Given the description of an element on the screen output the (x, y) to click on. 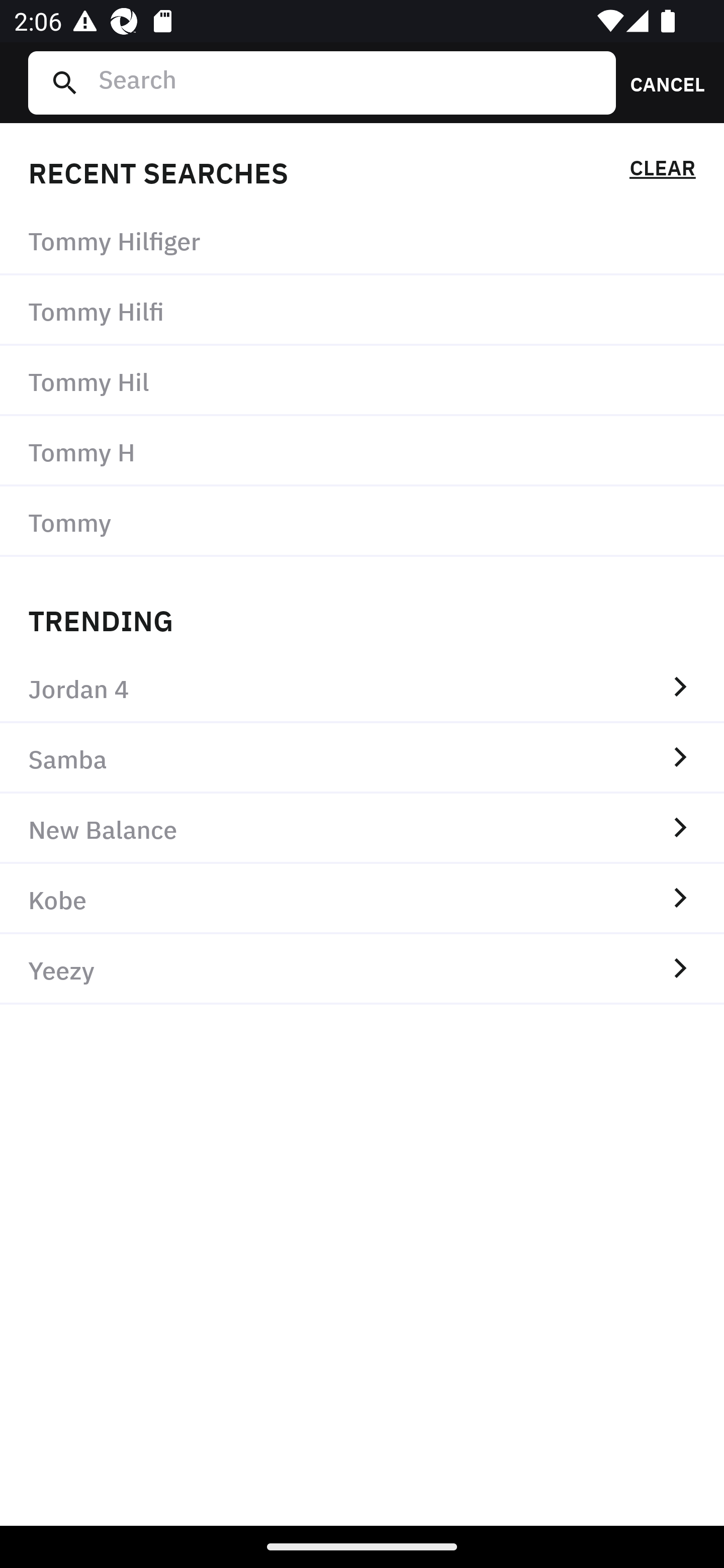
CANCEL (660, 82)
Search (349, 82)
CLEAR (662, 170)
Tommy Hilfiger (362, 240)
Tommy Hilfi (362, 310)
Tommy Hil (362, 380)
Tommy H (362, 450)
Tommy  (362, 521)
Jordan 4  (362, 687)
Samba  (362, 757)
New Balance  (362, 828)
Kobe  (362, 898)
Yeezy  (362, 969)
